Given the description of an element on the screen output the (x, y) to click on. 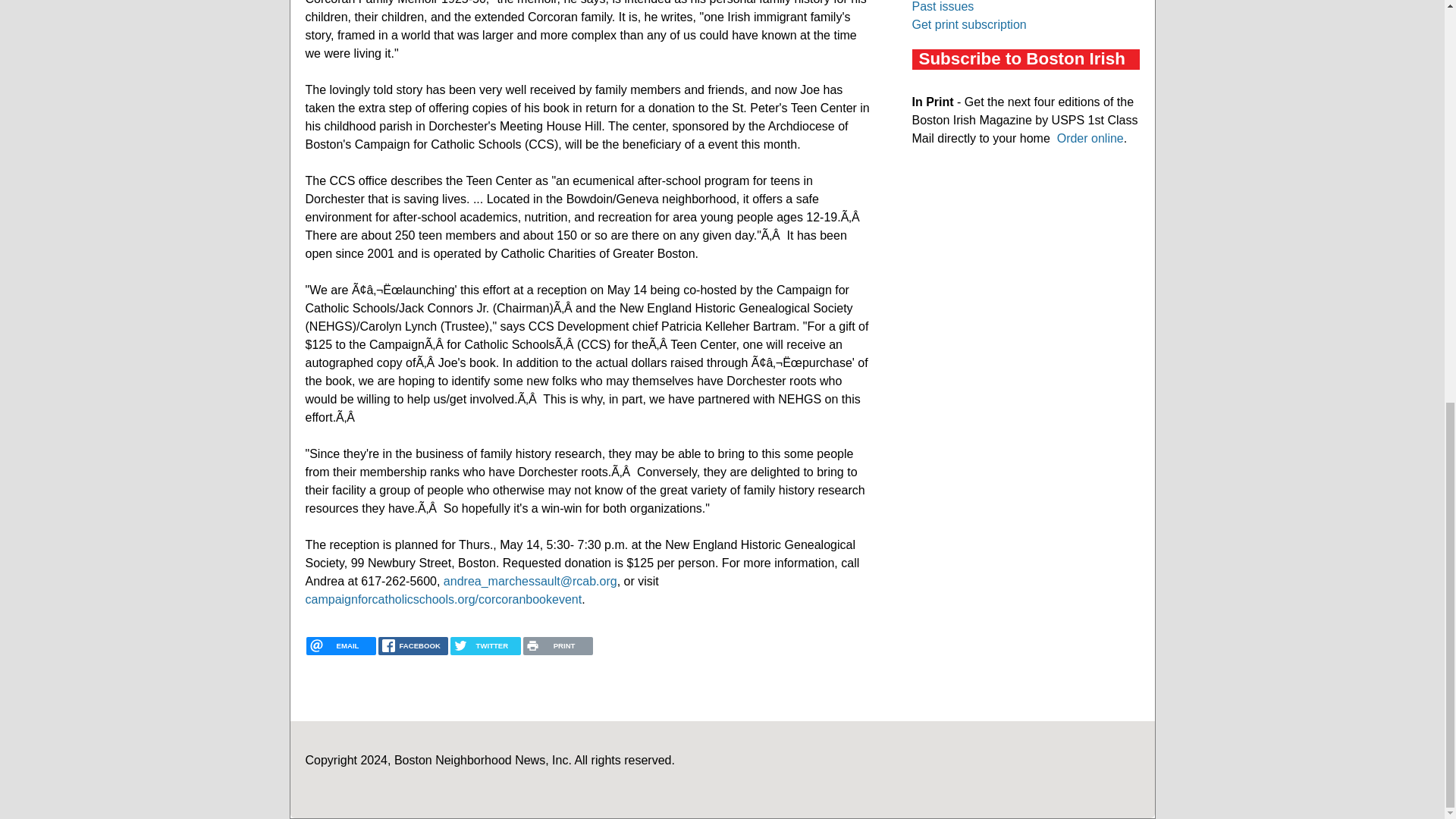
PRINT (557, 646)
Get print subscription (968, 24)
Order online (1090, 137)
EMAIL (340, 646)
Past issues (942, 6)
FACEBOOK (413, 646)
3rd party ad content (1024, 275)
TWITTER (484, 646)
3rd party ad content (1024, 480)
